Given the description of an element on the screen output the (x, y) to click on. 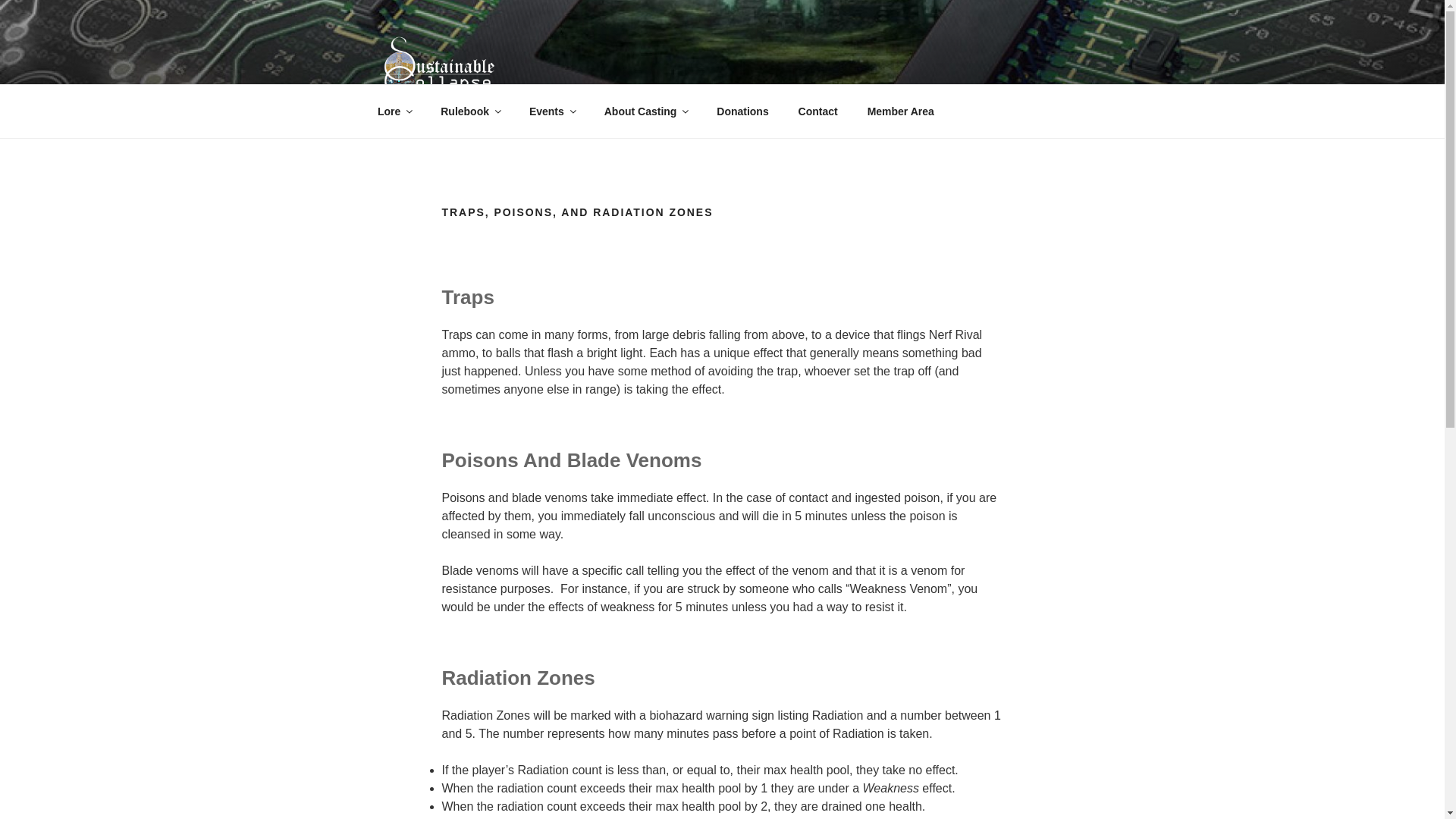
SUSTAINABLE COLLAPSE (574, 119)
Donations (742, 110)
About Casting (645, 110)
Rulebook (470, 110)
Events (551, 110)
Member Area (900, 110)
Contact (817, 110)
Lore (393, 110)
